Given the description of an element on the screen output the (x, y) to click on. 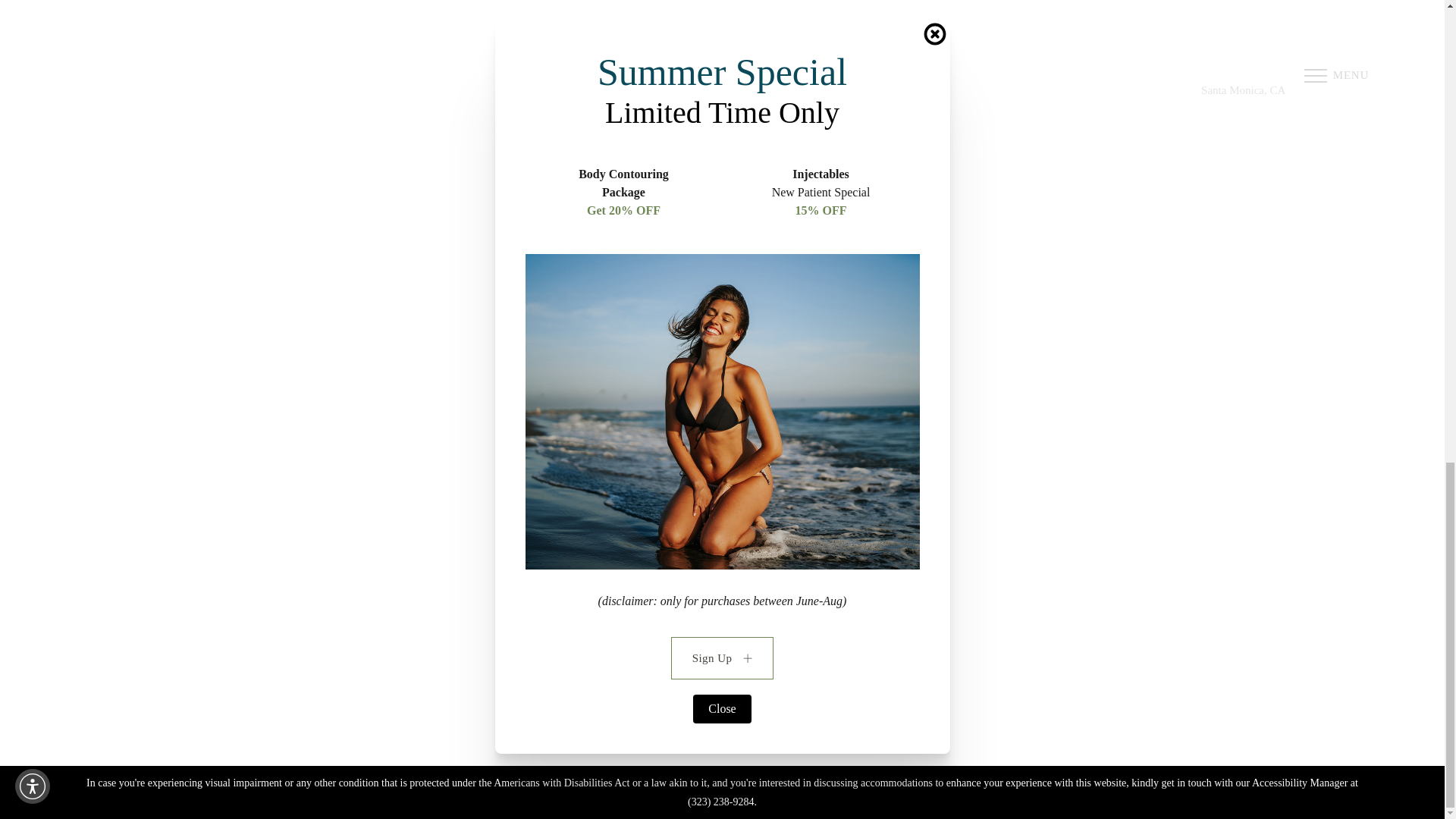
yes (756, 321)
